Given the description of an element on the screen output the (x, y) to click on. 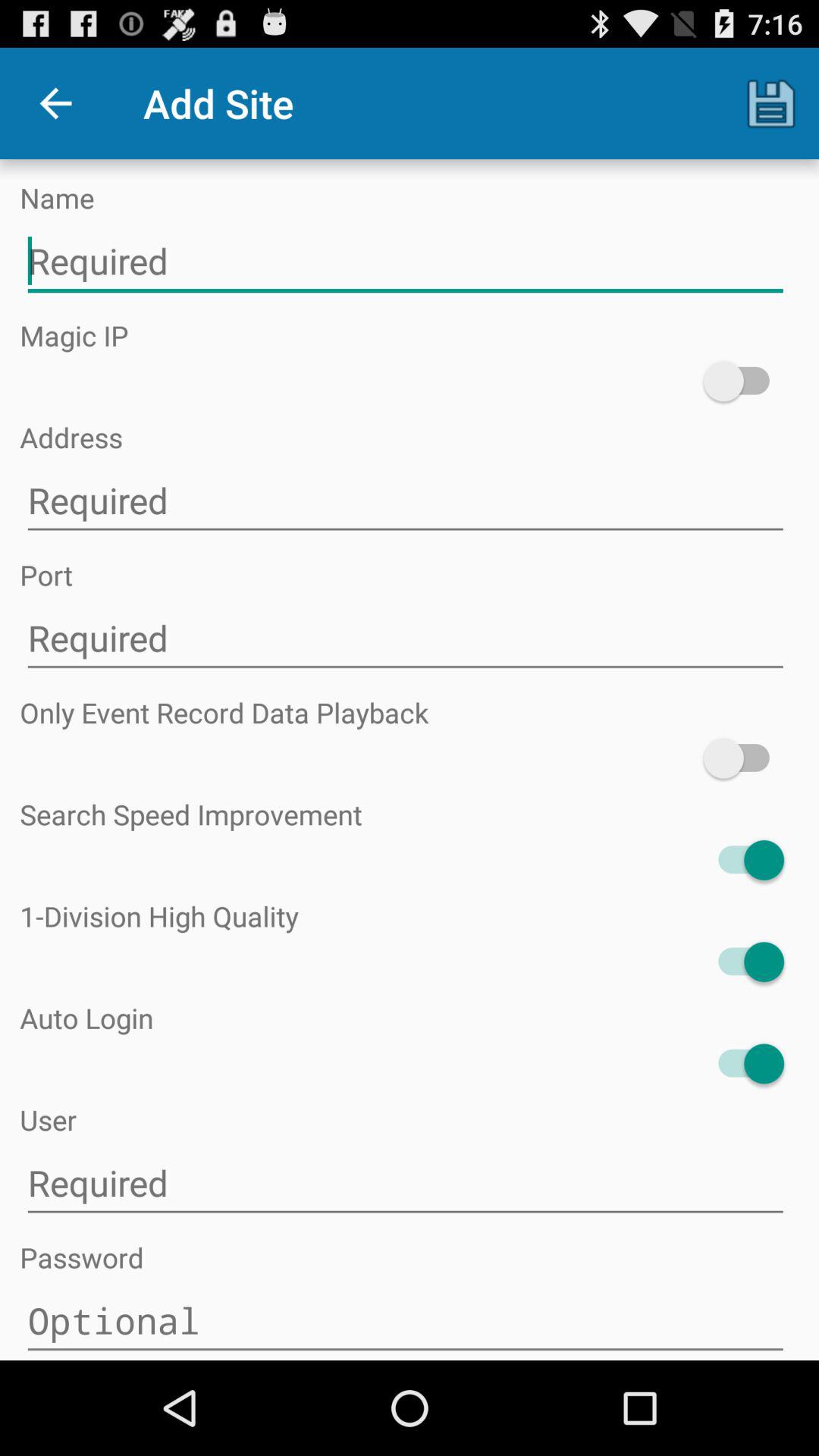
toggle only event record data playback (743, 758)
